Given the description of an element on the screen output the (x, y) to click on. 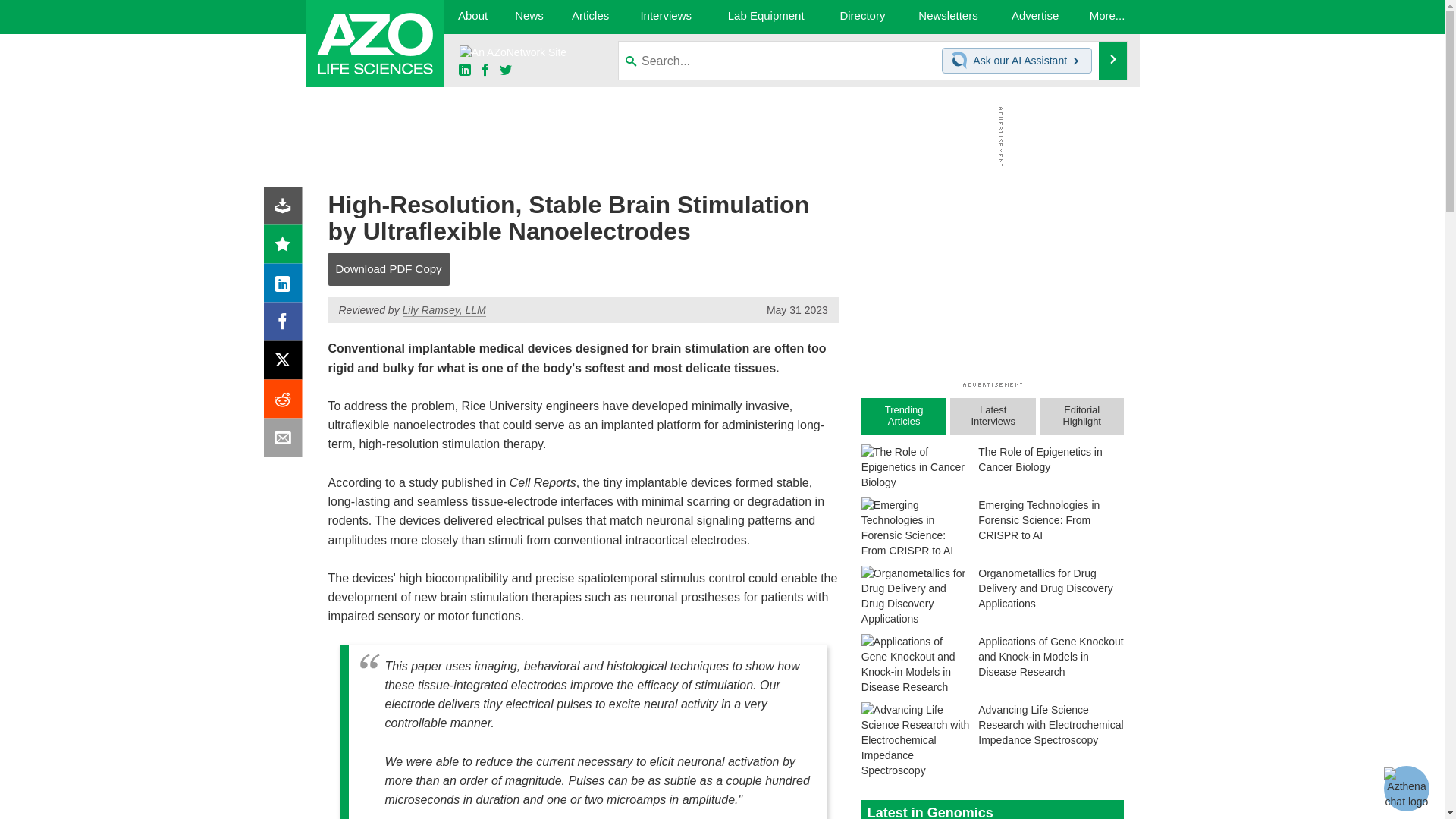
More... (1107, 17)
About (472, 17)
Facebook (285, 324)
Interviews (665, 17)
Lab Equipment (765, 17)
LinkedIn (285, 286)
Download PDF copy (285, 208)
Email (285, 441)
X (285, 363)
Articles (590, 17)
